Given the description of an element on the screen output the (x, y) to click on. 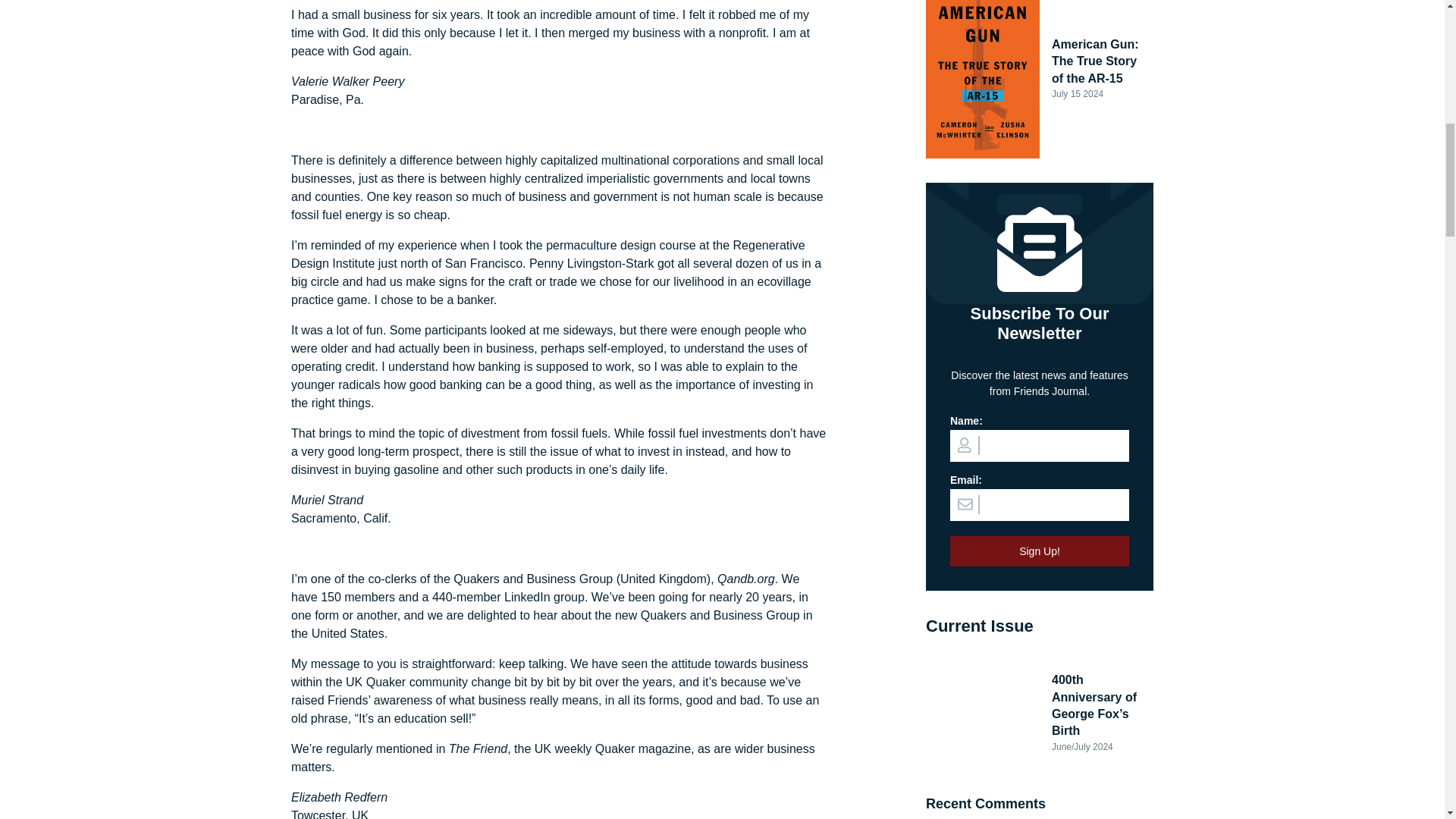
American Gun: The True Story of the AR-15 (1096, 61)
Sign Up! (1039, 551)
Sign Up! (1039, 551)
